Given the description of an element on the screen output the (x, y) to click on. 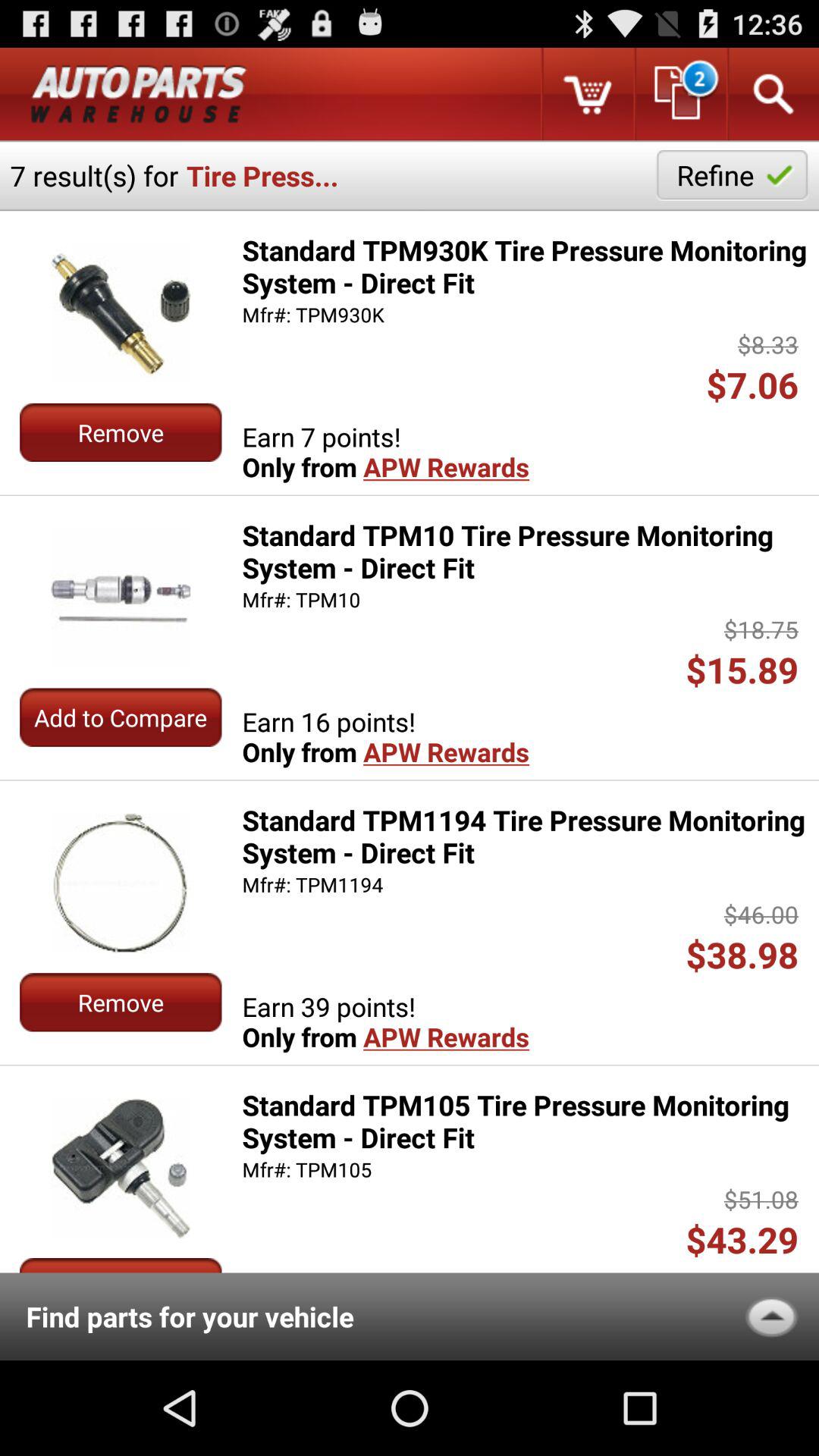
read my messages (679, 93)
